Given the description of an element on the screen output the (x, y) to click on. 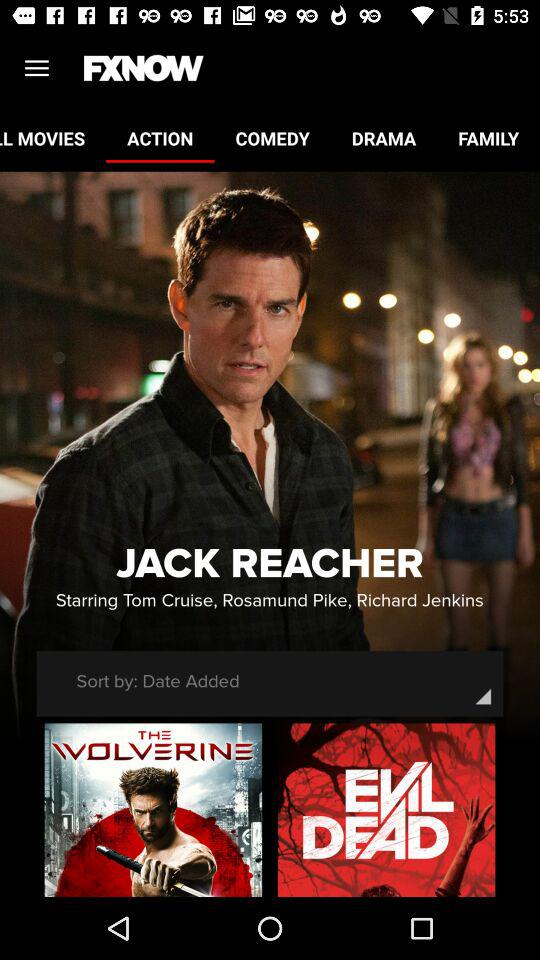
open icon next to drama (488, 138)
